Given the description of an element on the screen output the (x, y) to click on. 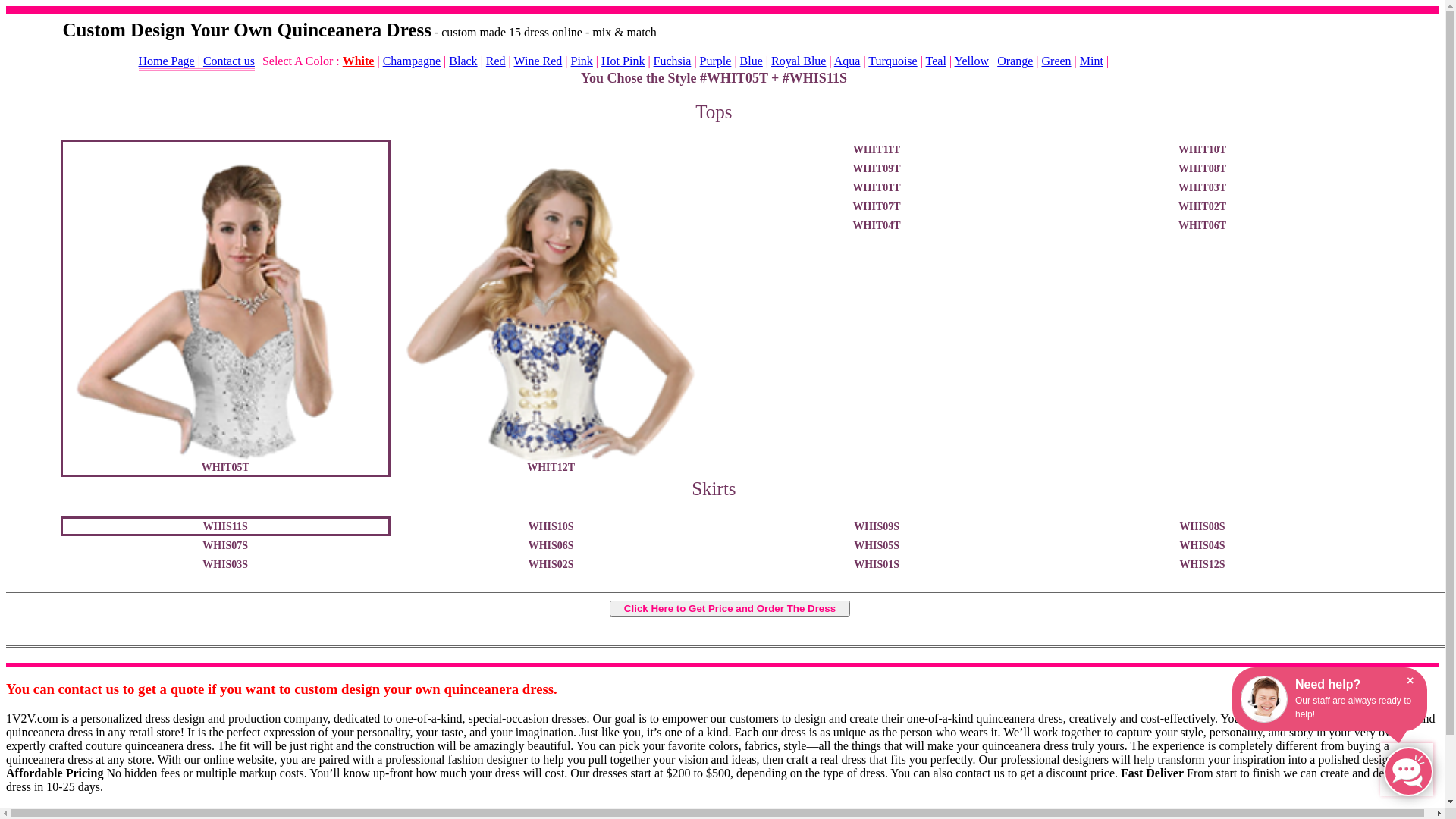
Royal Blue Element type: text (798, 60)
WHIS02S Element type: text (550, 563)
Blue Element type: text (751, 60)
WHIT01T Element type: text (875, 186)
Aqua Element type: text (847, 60)
WHIS03S Element type: text (224, 563)
WHIT08T Element type: text (1202, 167)
Contact us Element type: text (228, 60)
WHIS07S Element type: text (224, 544)
WHIT04T Element type: text (875, 224)
Champagne Element type: text (411, 60)
WHIT05T Element type: text (224, 307)
Pink Element type: text (582, 60)
WHIT10T Element type: text (1202, 148)
Black Element type: text (462, 60)
WHIT09T Element type: text (875, 167)
Home Page Element type: text (166, 60)
Red Element type: text (495, 60)
WHIT02T Element type: text (1202, 205)
Fuchsia Element type: text (672, 60)
WHIS04S Element type: text (1202, 544)
   Click Here to Get Price and Order The Dress    Element type: text (729, 608)
WHIS01S Element type: text (875, 563)
Orange Element type: text (1014, 60)
Teal Element type: text (935, 60)
WHIS12S Element type: text (1202, 563)
WHIS08S Element type: text (1202, 525)
WHIS10S Element type: text (550, 525)
WHIS09S Element type: text (875, 525)
Mint Element type: text (1091, 60)
WHIS11S Element type: text (224, 525)
Turquoise Element type: text (892, 60)
WHIT11T Element type: text (875, 148)
WHIT07T Element type: text (875, 205)
Hot Pink Element type: text (622, 60)
WHIT12T Element type: text (550, 307)
WHIS06S Element type: text (550, 544)
White Element type: text (358, 60)
Purple Element type: text (715, 60)
Yellow Element type: text (970, 60)
WHIS05S Element type: text (875, 544)
WHIT03T Element type: text (1202, 186)
Green Element type: text (1056, 60)
Wine Red Element type: text (538, 60)
WHIT06T Element type: text (1202, 224)
